Given the description of an element on the screen output the (x, y) to click on. 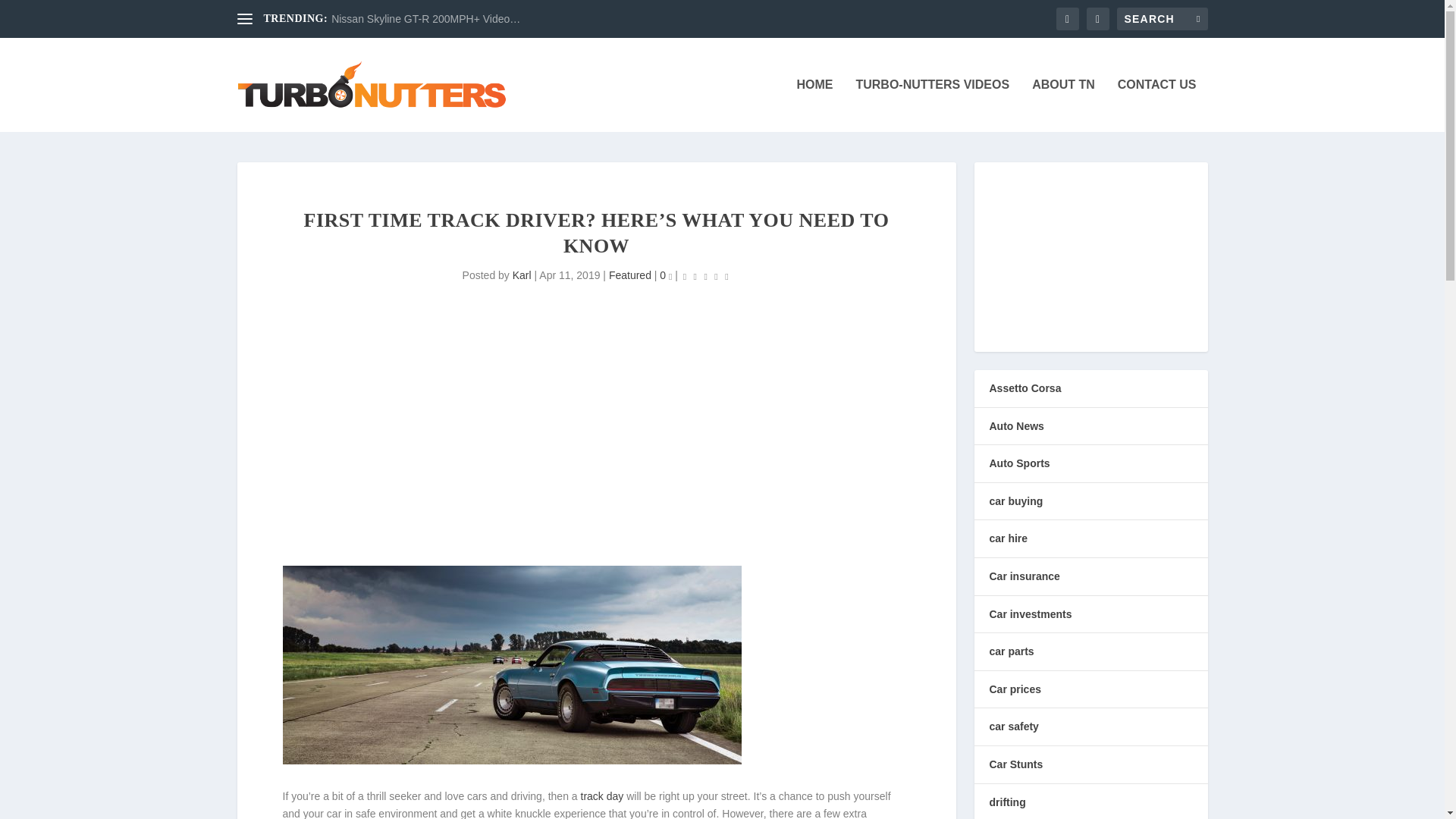
CONTACT US (1157, 104)
Posts by Karl (521, 275)
TURBO-NUTTERS VIDEOS (932, 104)
HOME (814, 104)
Rating: 0.00 (705, 275)
Search for: (1161, 18)
track day (602, 796)
ABOUT TN (1063, 104)
0 (665, 275)
Featured (629, 275)
Karl (521, 275)
comment count (669, 276)
